Given the description of an element on the screen output the (x, y) to click on. 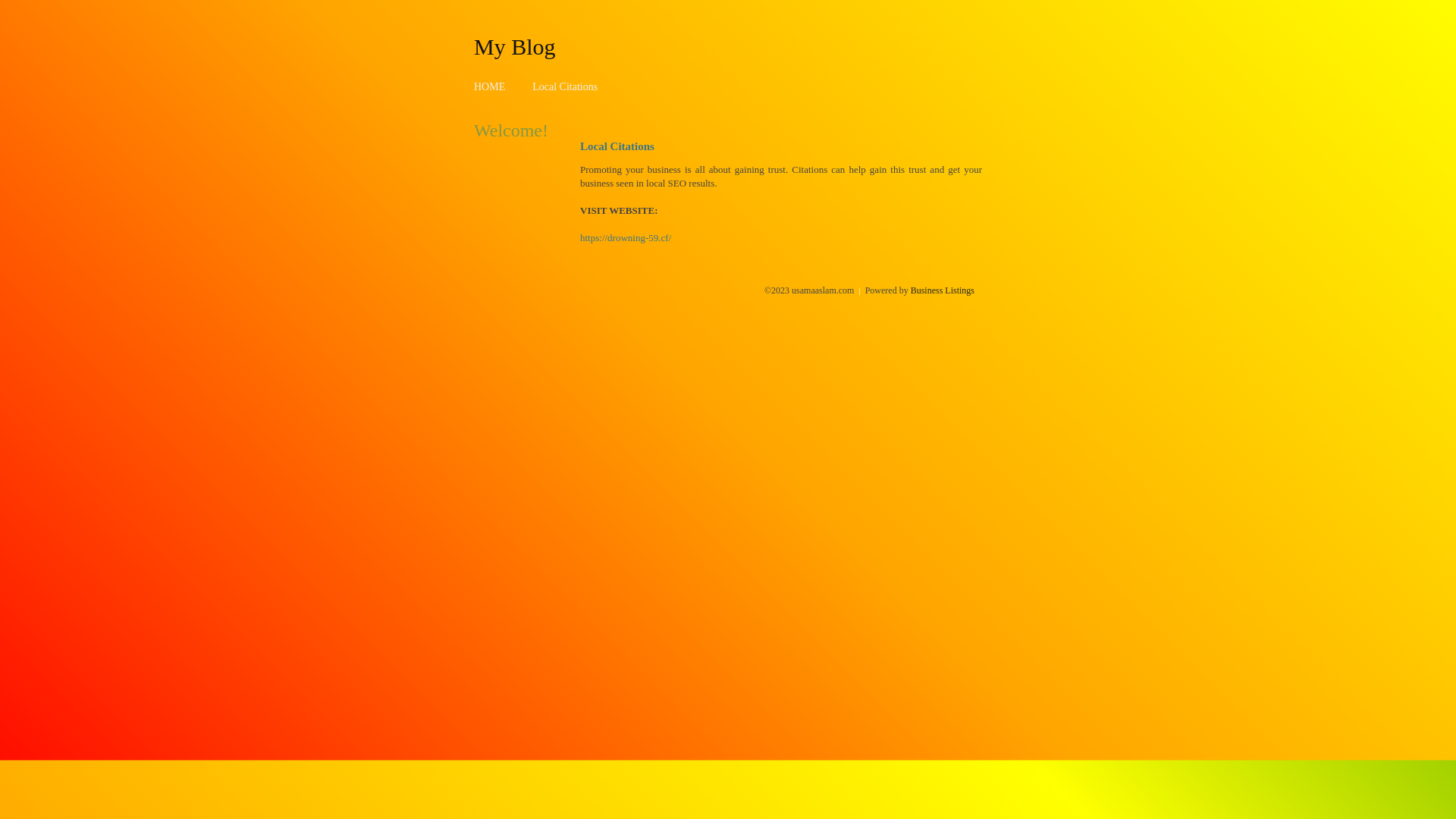
My Blog Element type: text (514, 46)
HOME Element type: text (489, 86)
https://drowning-59.cf/ Element type: text (625, 237)
Local Citations Element type: text (564, 86)
Business Listings Element type: text (942, 290)
